Given the description of an element on the screen output the (x, y) to click on. 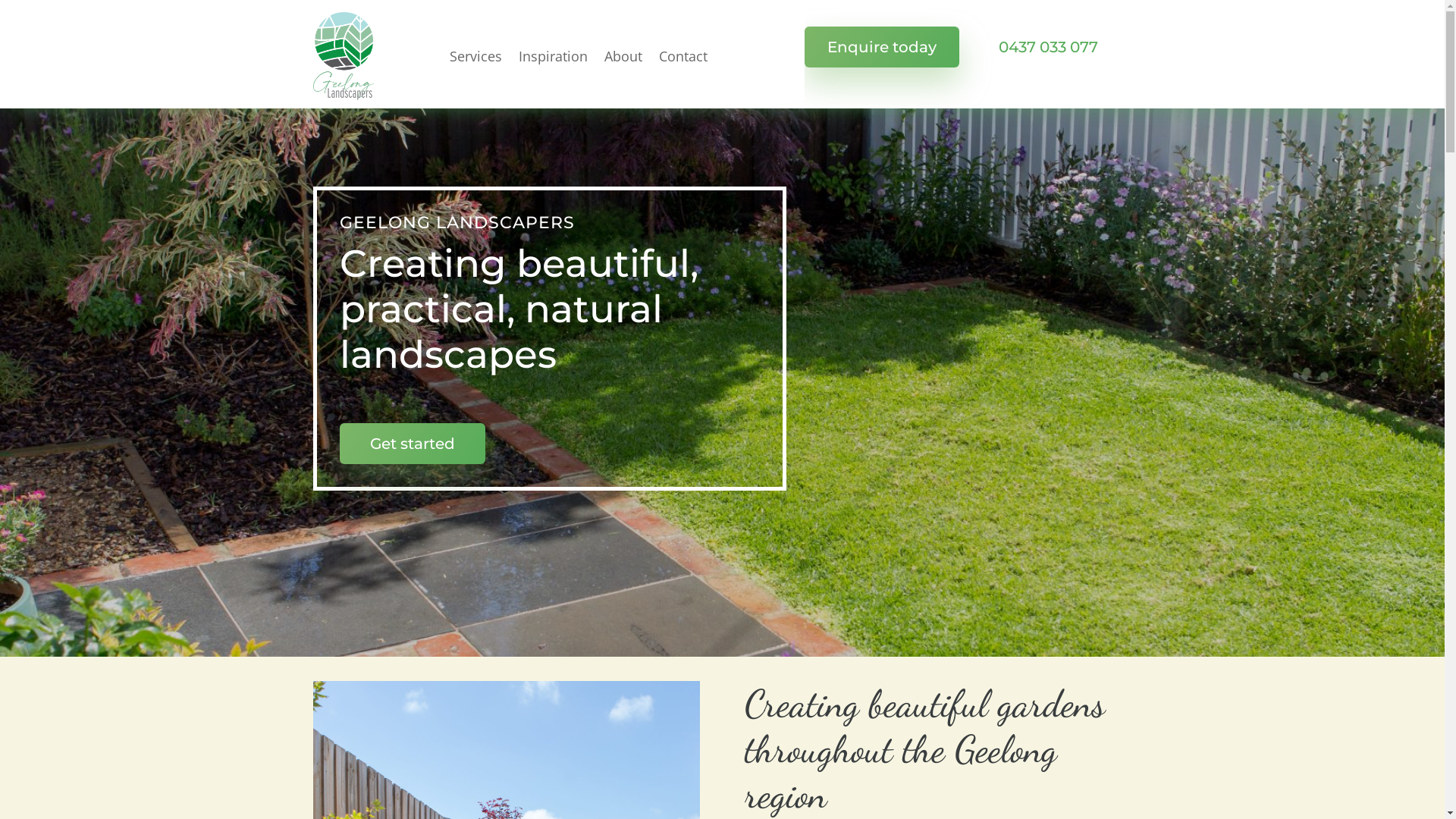
Inspiration Element type: text (552, 56)
Get started Element type: text (412, 443)
Enquire today Element type: text (880, 46)
About Element type: text (622, 56)
Contact Element type: text (682, 56)
Services Element type: text (474, 56)
0437 033 077 Element type: text (1047, 46)
